Given the description of an element on the screen output the (x, y) to click on. 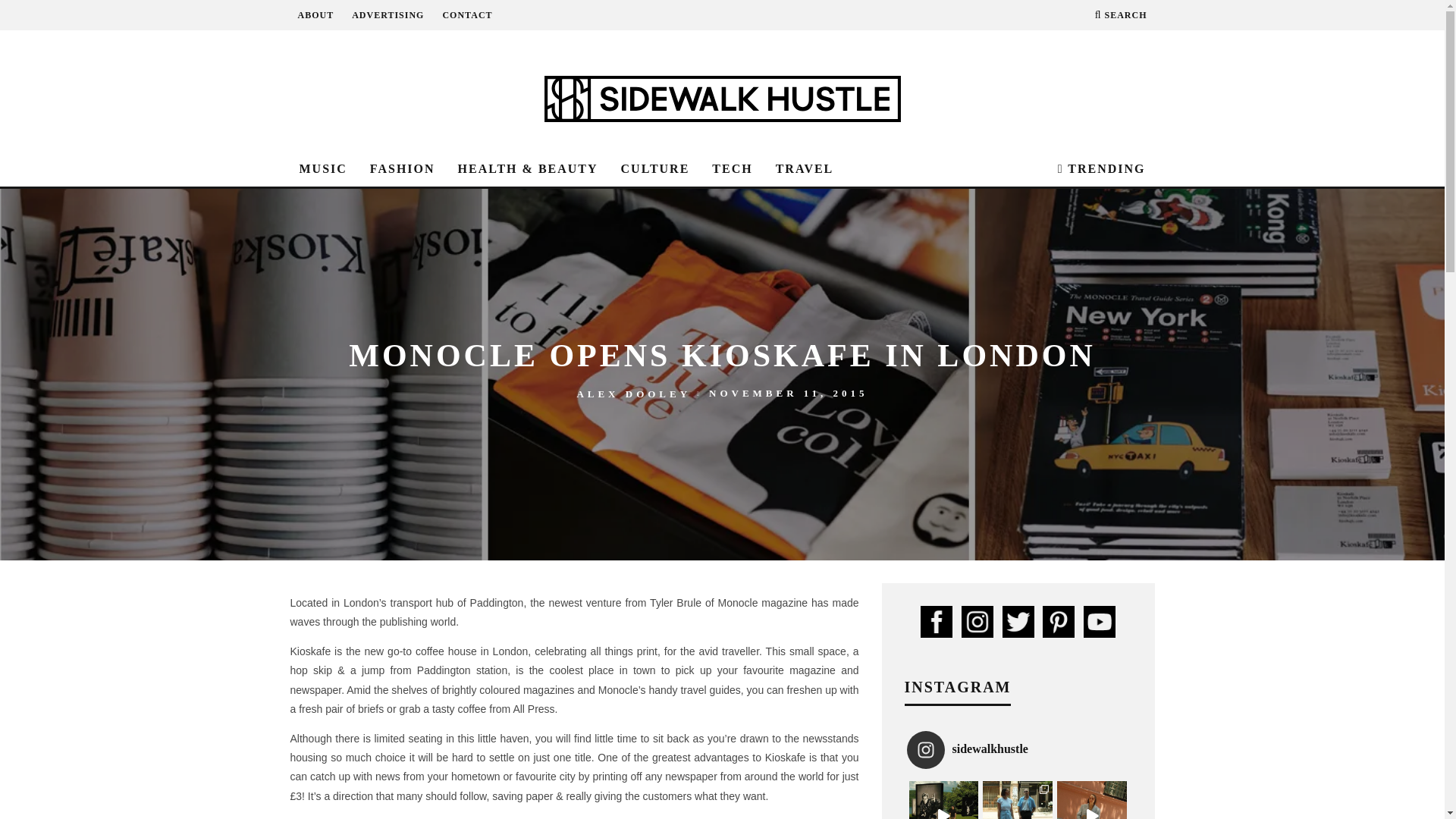
ABOUT (315, 15)
SEARCH (1120, 15)
Search (1120, 15)
Log In (722, 408)
ADVERTISING (387, 15)
MUSIC (322, 169)
FASHION (402, 169)
CONTACT (467, 15)
